Given the description of an element on the screen output the (x, y) to click on. 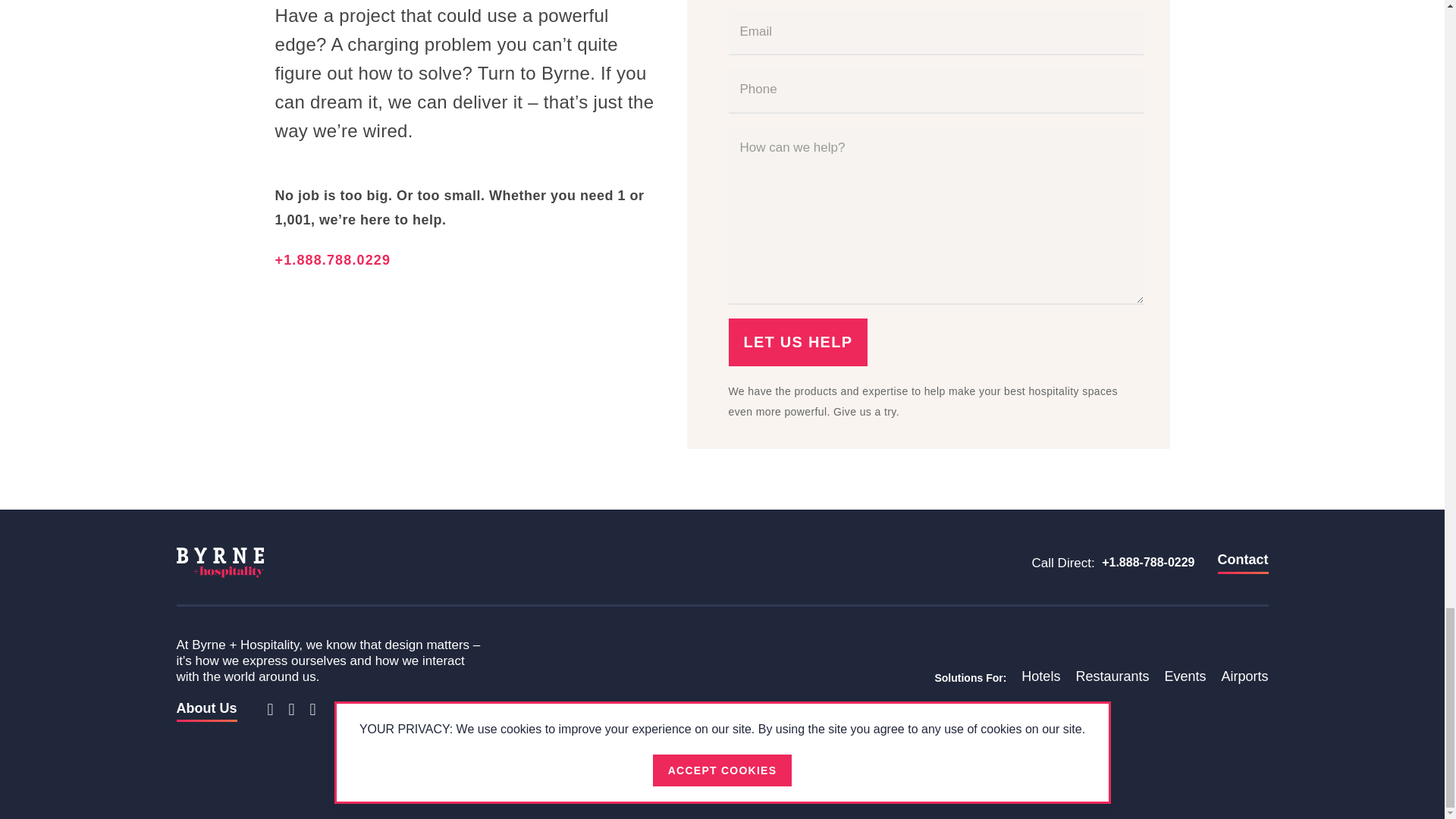
Hotels (1040, 680)
About Us (205, 711)
Events (1184, 680)
Airports (1244, 680)
Let Us Help (797, 342)
Contact (1242, 563)
Let Us Help (797, 342)
Restaurants (1111, 680)
